Given the description of an element on the screen output the (x, y) to click on. 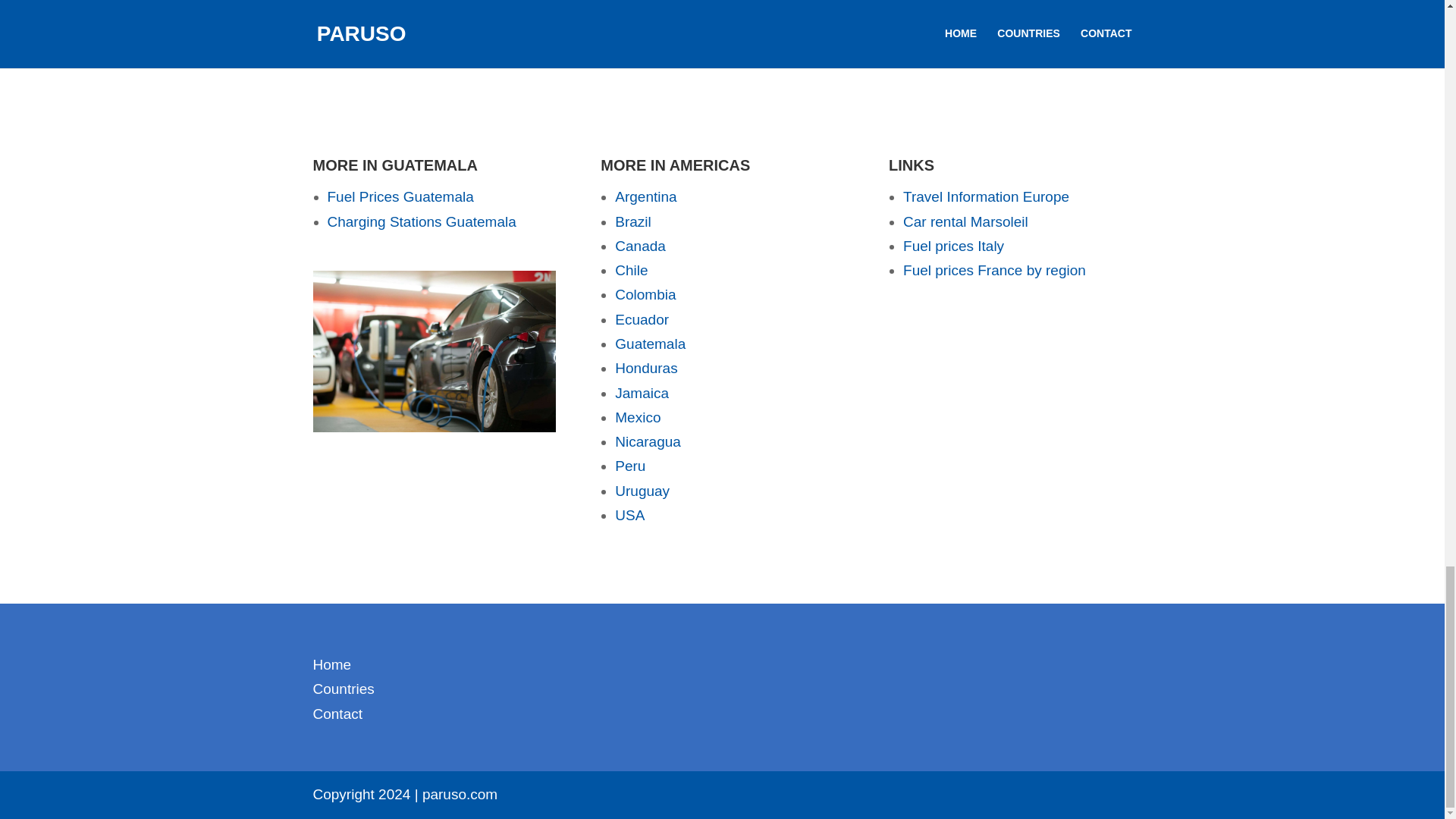
Fuel Prices Guatemala (400, 196)
Argentina (645, 196)
Ecuador (641, 319)
USA (629, 514)
Mexico (637, 417)
Guatemala (649, 343)
Chile (630, 270)
Car rental Marsoleil (964, 220)
Peru (629, 465)
Countries (343, 688)
